Given the description of an element on the screen output the (x, y) to click on. 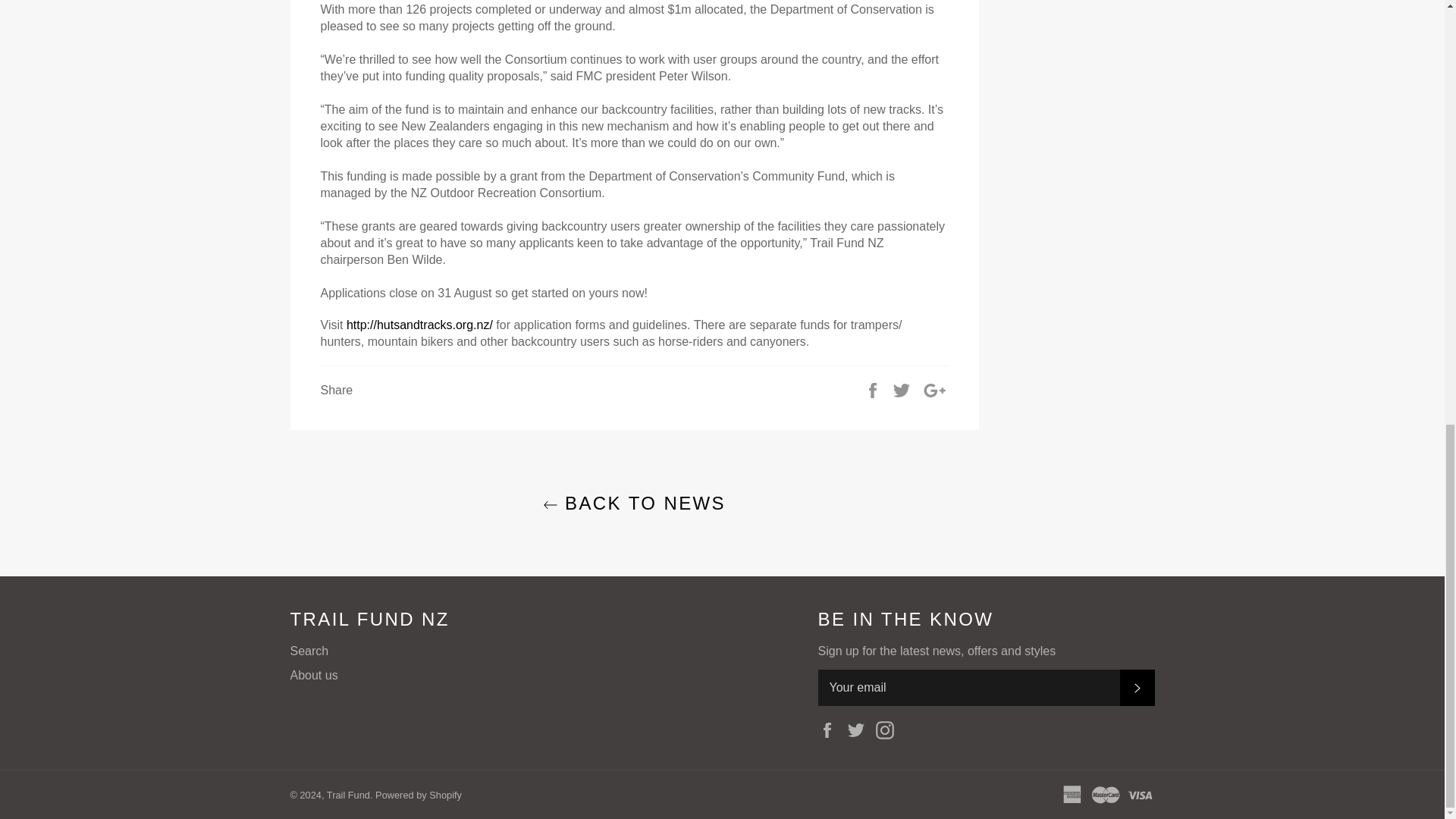
Tweet on Twitter (903, 390)
Trail Fund on Twitter (859, 729)
Trail Fund on Instagram (888, 729)
Share on Facebook (874, 390)
Trail Fund on Facebook (829, 729)
